Given the description of an element on the screen output the (x, y) to click on. 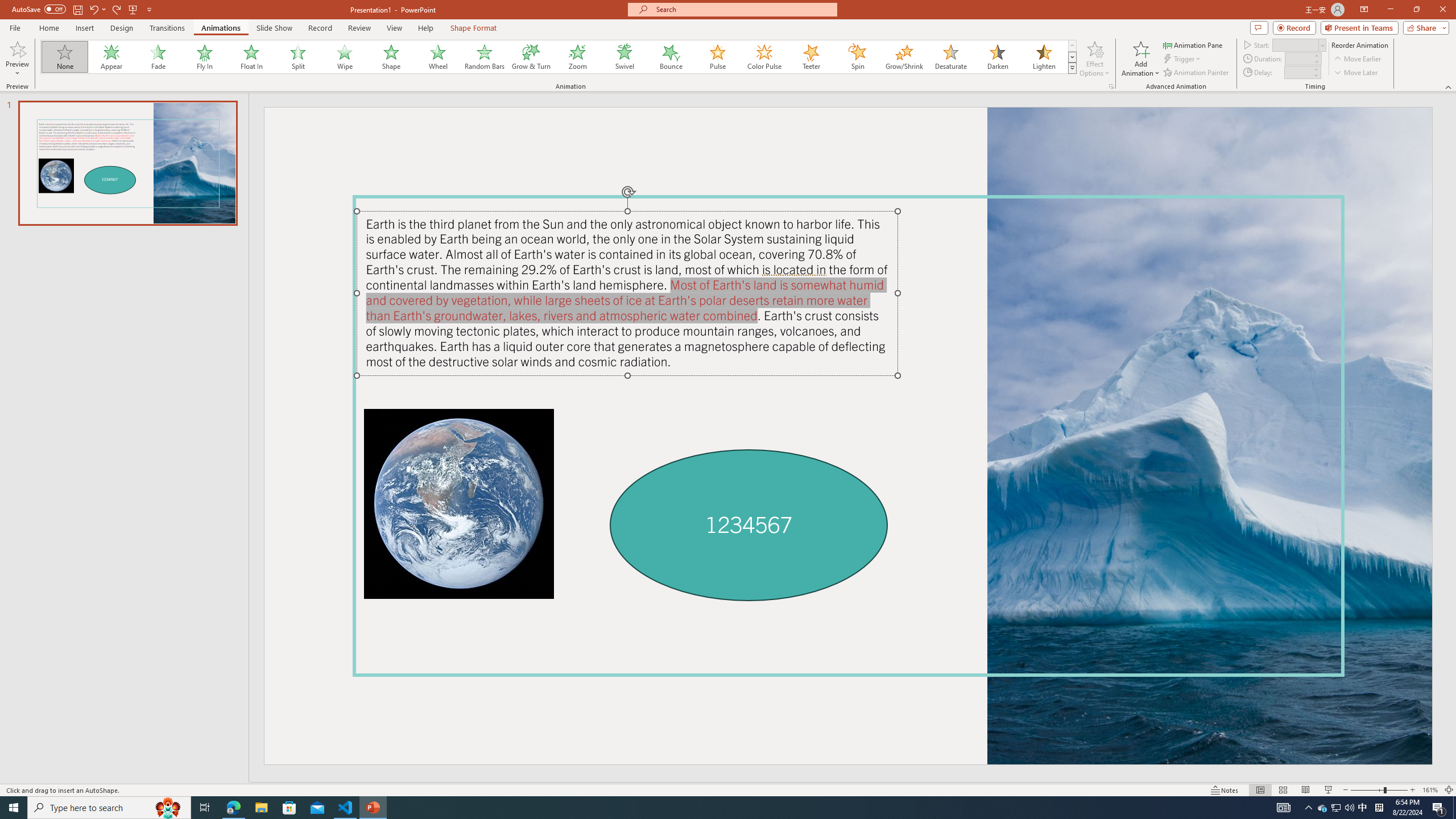
Redo (117, 9)
Teeter (810, 56)
Animation Styles (1071, 67)
Animation Pane (1193, 44)
Notes  (1225, 790)
Present in Teams (1359, 27)
Zoom In (1412, 790)
Preview (17, 58)
Desaturate (950, 56)
Float In (251, 56)
Add Animation (1141, 58)
